Given the description of an element on the screen output the (x, y) to click on. 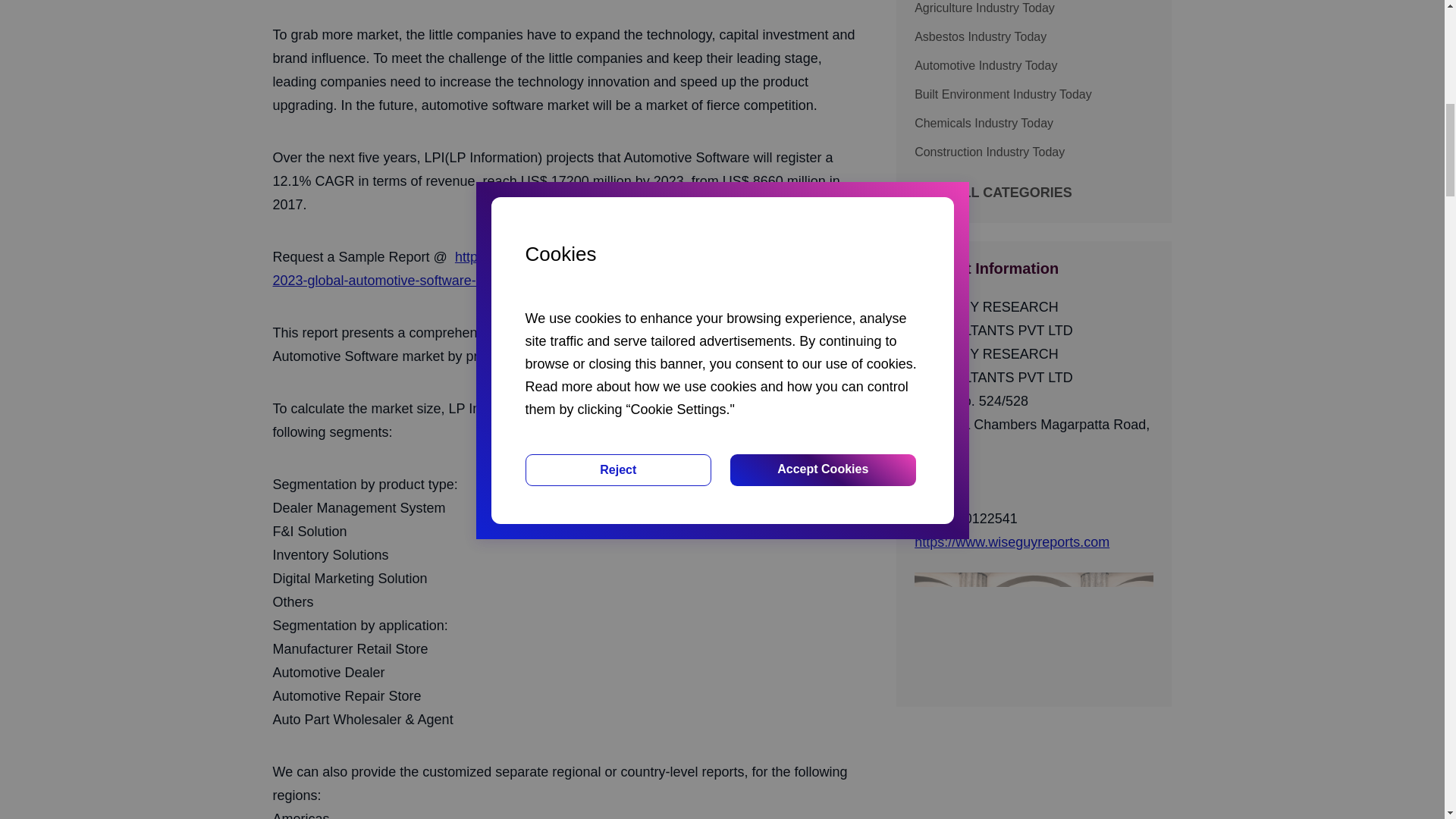
VIEW ALL CATEGORIES (992, 192)
Automotive Industry Today (1033, 65)
Asbestos Industry Today (1033, 36)
Chemicals Industry Today (1033, 123)
Built Environment Industry Today (1033, 94)
Agriculture Industry Today (1033, 9)
Construction Industry Today (1033, 151)
